Given the description of an element on the screen output the (x, y) to click on. 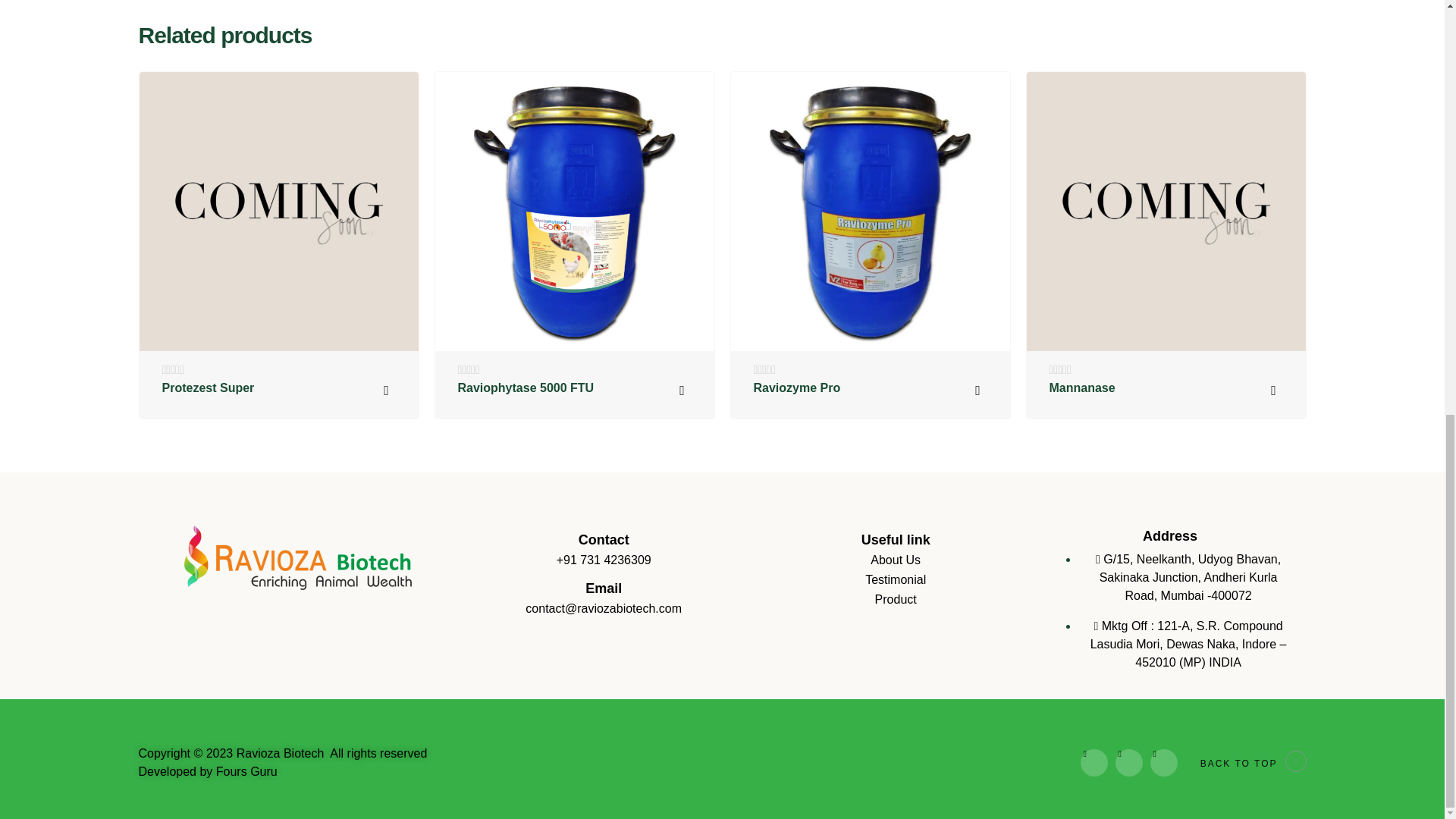
Raviophytase 5000 FTU (526, 387)
Read More (386, 390)
Read More (681, 390)
Protezest Super (207, 387)
